Given the description of an element on the screen output the (x, y) to click on. 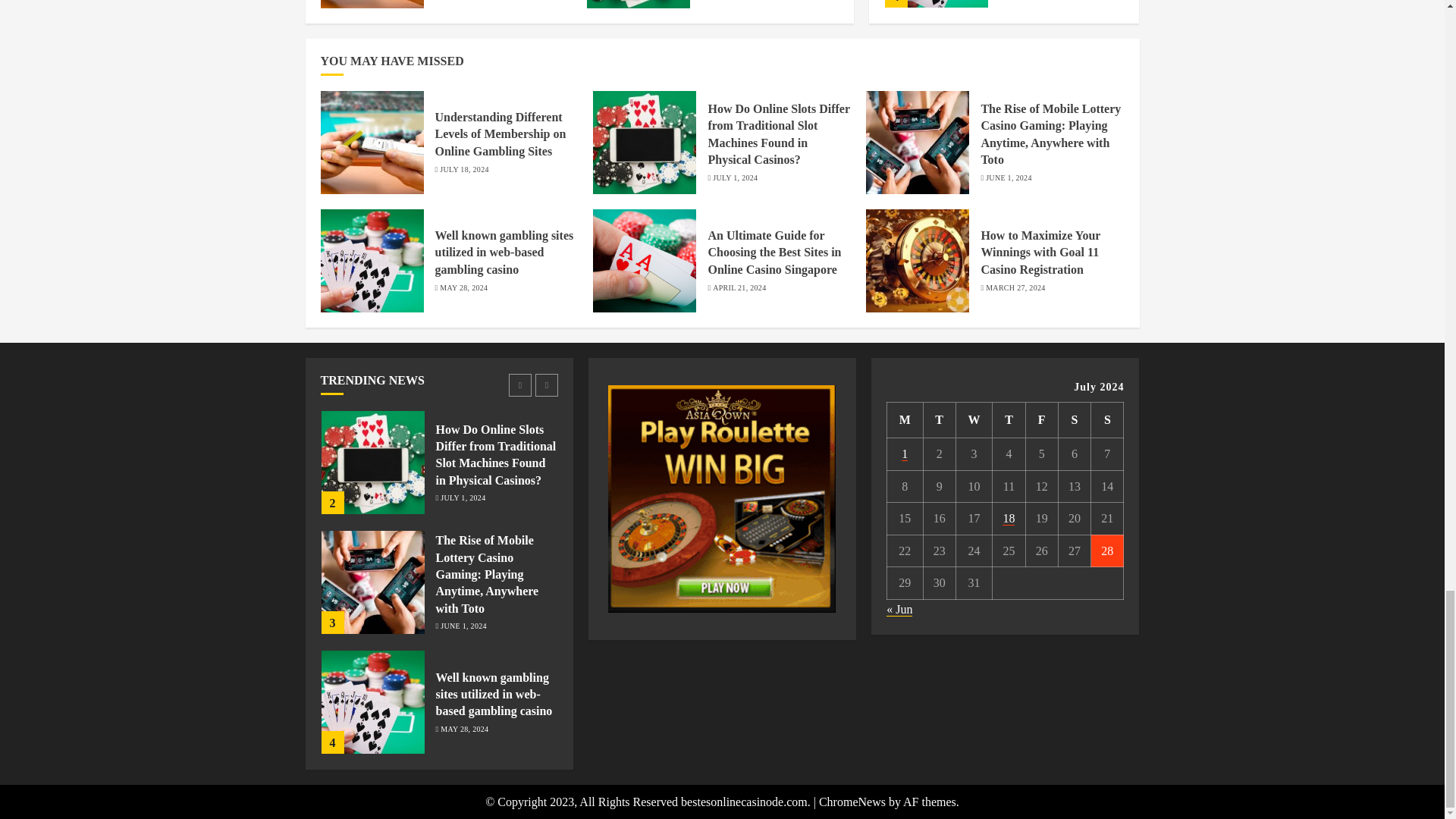
Saturday (1074, 420)
Thursday (1008, 420)
Sunday (1107, 420)
Monday (904, 420)
Friday (1041, 420)
Tuesday (939, 420)
Wednesday (973, 420)
